Given the description of an element on the screen output the (x, y) to click on. 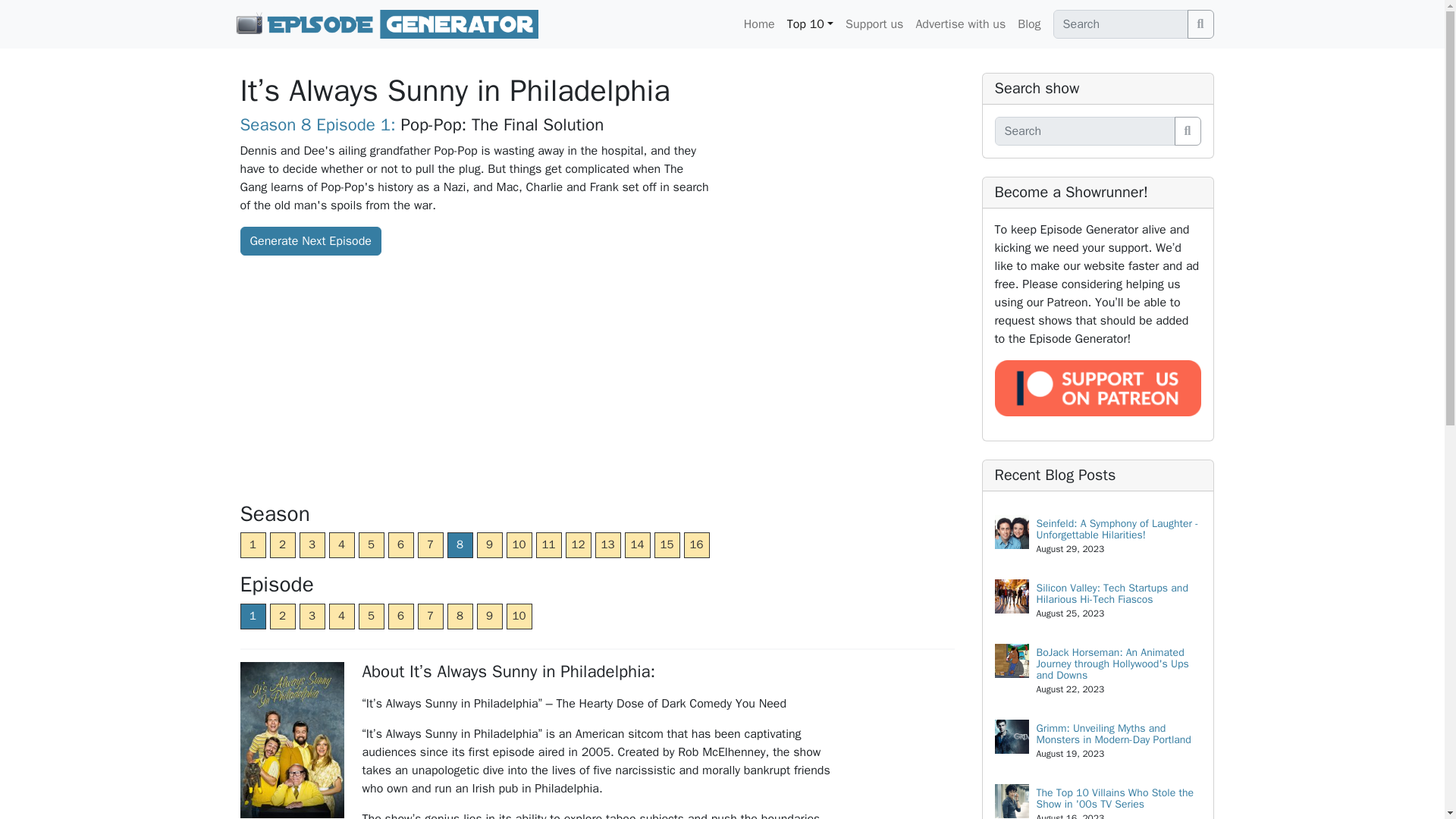
11 (547, 544)
14 (637, 544)
1 (252, 616)
2 (282, 616)
Blog (1028, 24)
Generate Next Episode (310, 240)
15 (666, 544)
9 (489, 544)
Search (1201, 23)
1 (252, 544)
Top 10 (810, 24)
13 (607, 544)
